Given the description of an element on the screen output the (x, y) to click on. 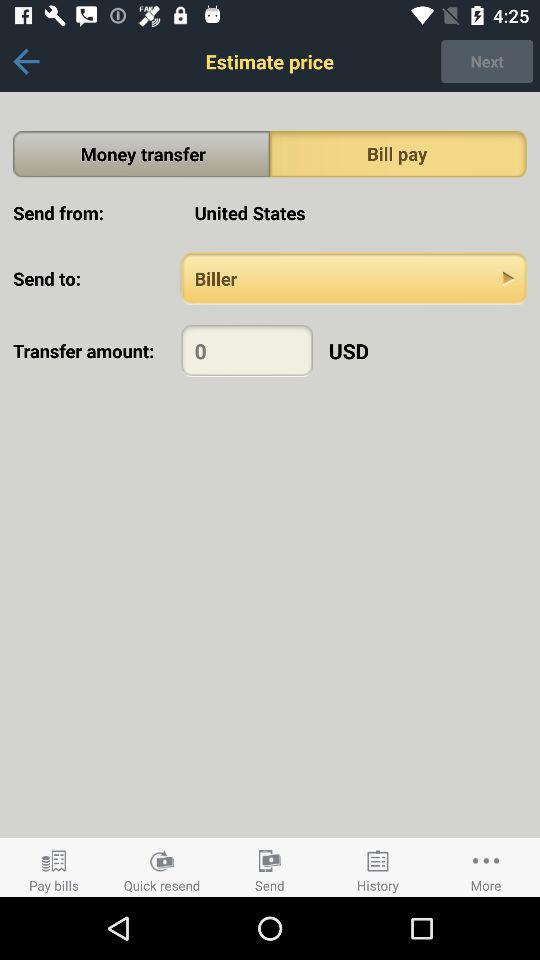
biller field name (353, 278)
